Given the description of an element on the screen output the (x, y) to click on. 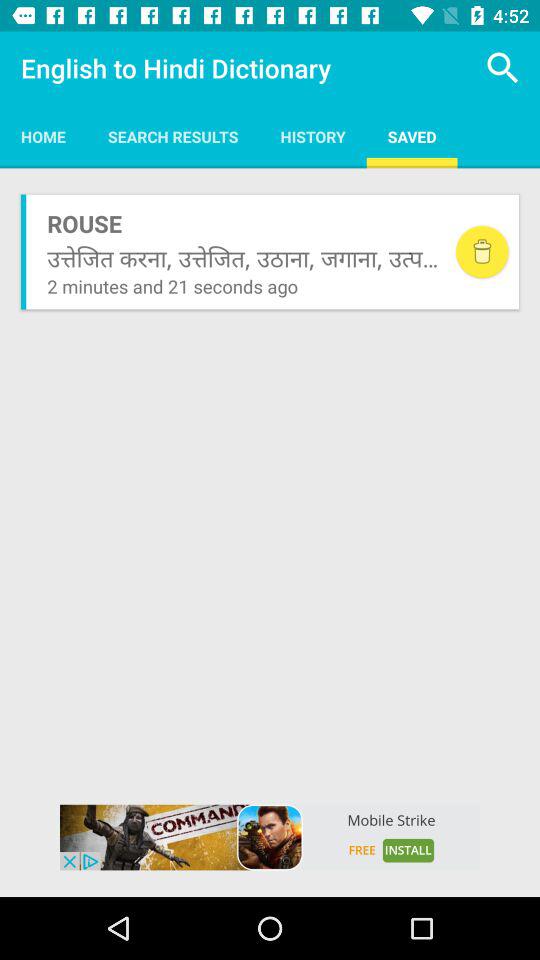
advertisement (270, 837)
